Given the description of an element on the screen output the (x, y) to click on. 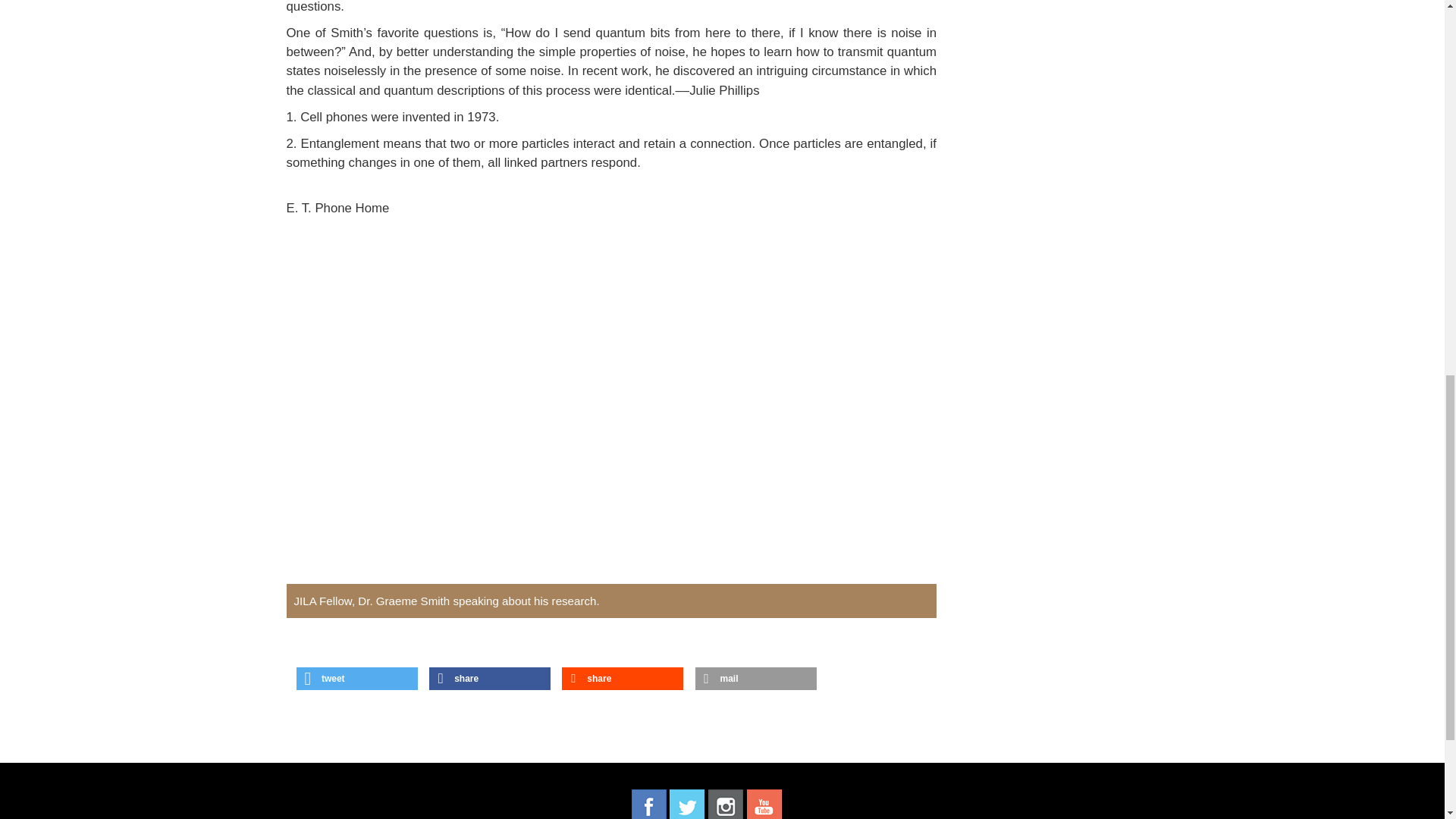
Share on Reddit (622, 678)
Share on Twitter (357, 678)
Send by email (754, 678)
Share on Facebook (489, 678)
